Given the description of an element on the screen output the (x, y) to click on. 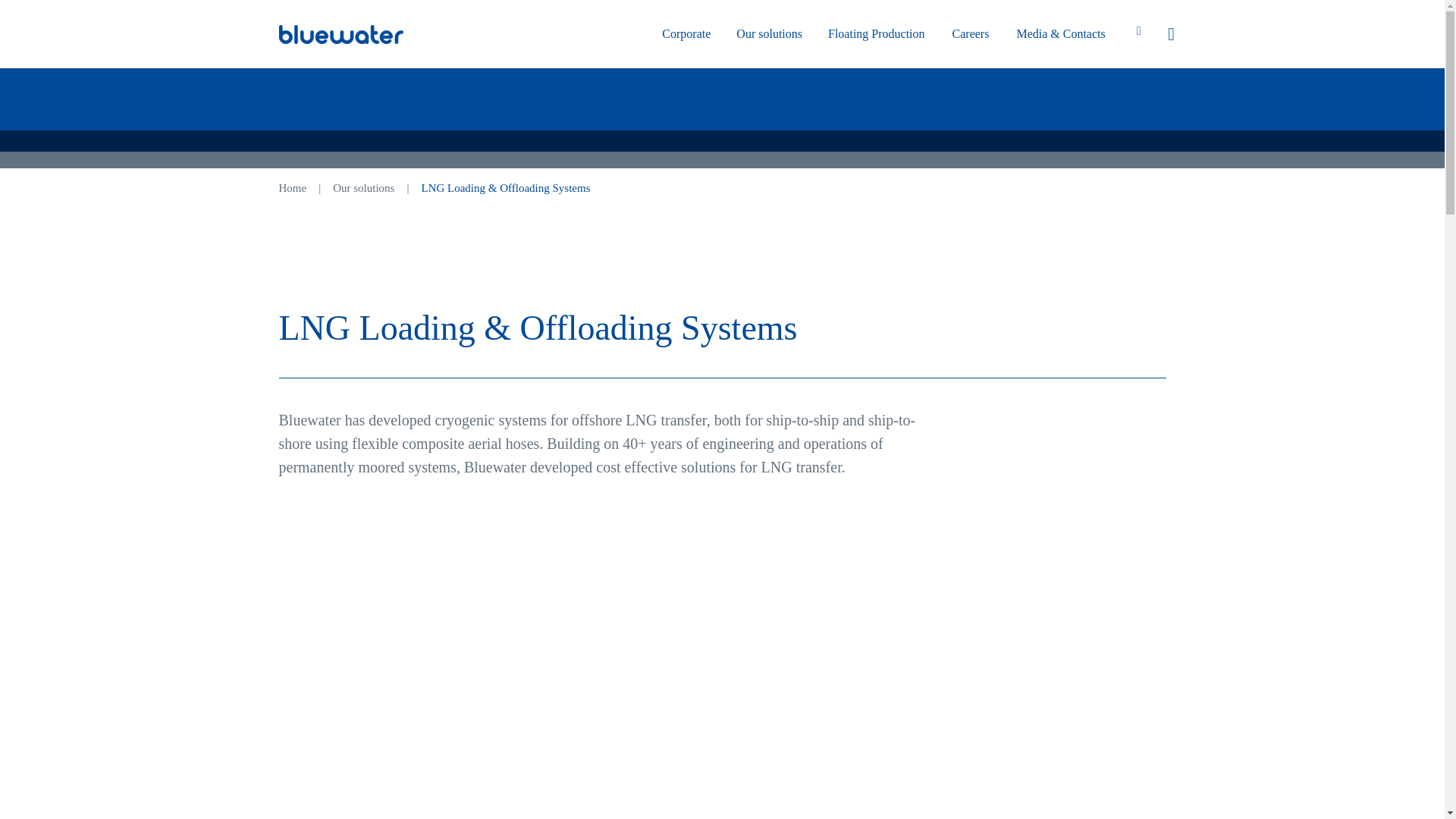
Careers (970, 34)
Our solutions (363, 187)
Floating Production (876, 34)
Our solutions (769, 34)
s (1323, 114)
Corporate (686, 34)
Home (293, 187)
